Given the description of an element on the screen output the (x, y) to click on. 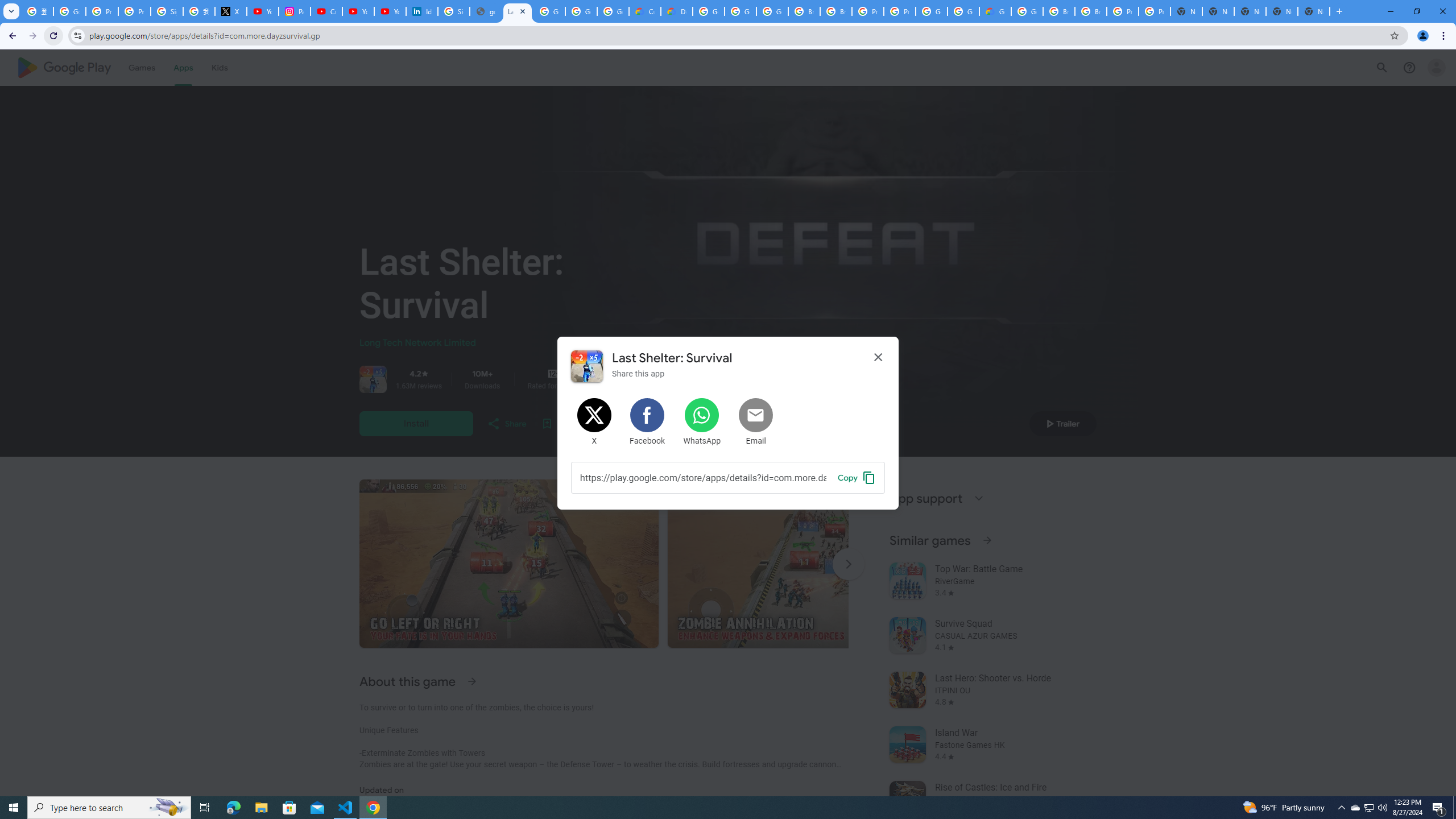
Customer Care | Google Cloud (644, 11)
Google Workspace - Specific Terms (581, 11)
Google Cloud Platform (963, 11)
Last Shelter: Survival - Apps on Google Play (517, 11)
Browse Chrome as a guest - Computer - Google Chrome Help (1059, 11)
